Given the description of an element on the screen output the (x, y) to click on. 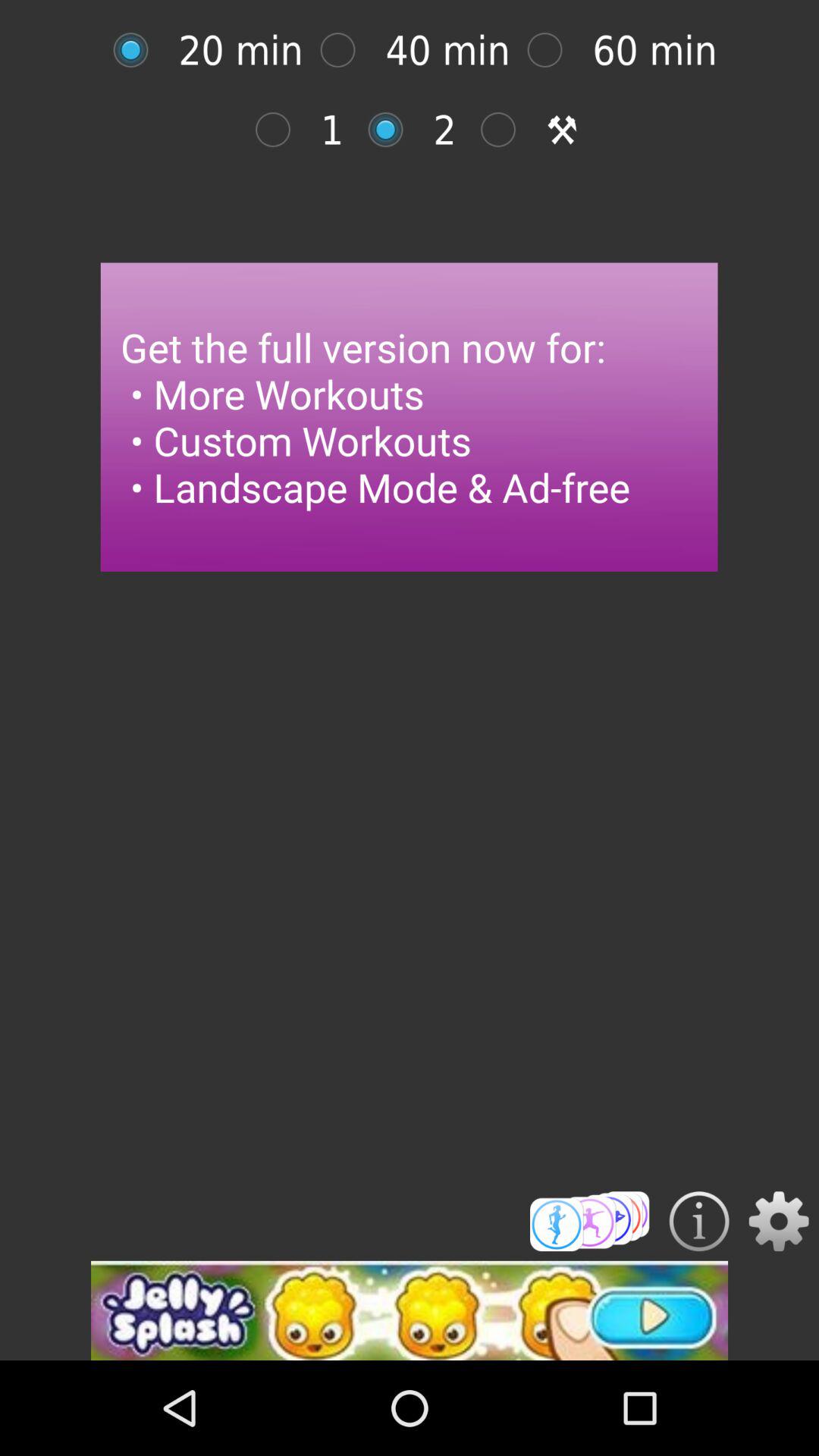
select an option (393, 129)
